Given the description of an element on the screen output the (x, y) to click on. 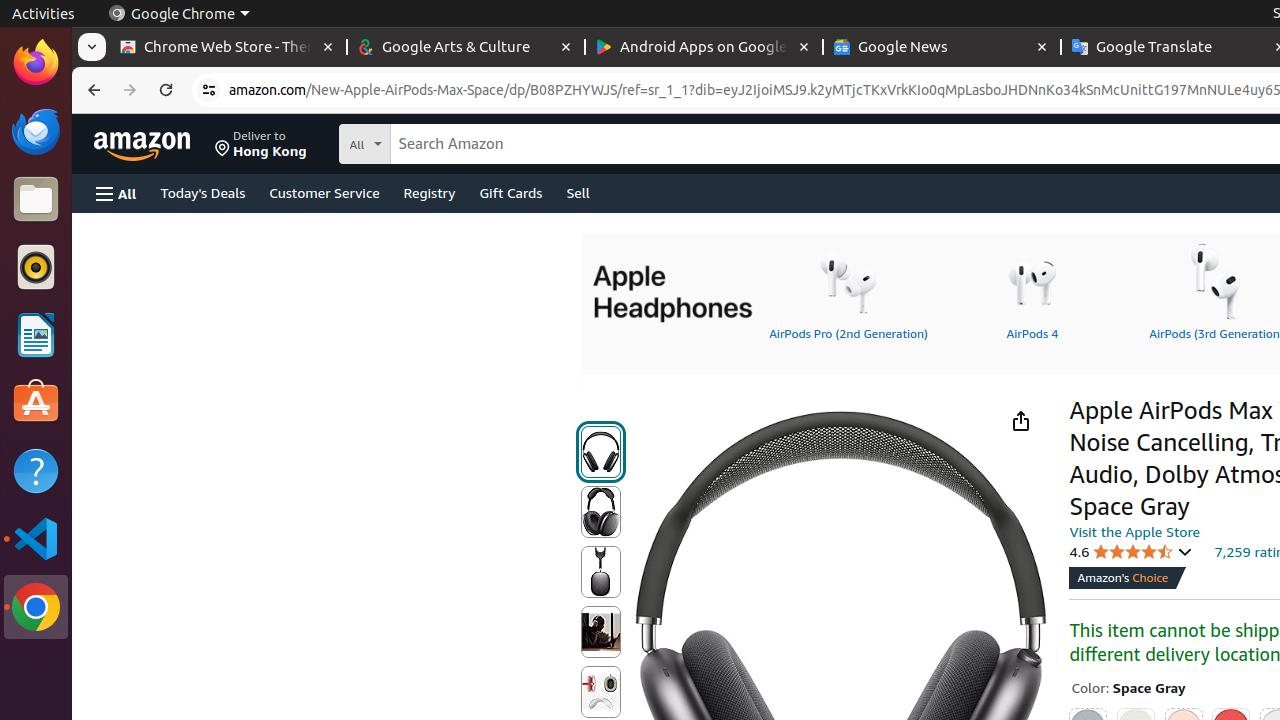
Reload Element type: push-button (166, 90)
Android Apps on Google Play - Memory usage - 60.6 MB Element type: page-tab (704, 47)
Google Chrome Element type: push-button (36, 607)
Deliver to Hong Kong Element type: link (261, 144)
Thunderbird Mail Element type: push-button (36, 131)
